Given the description of an element on the screen output the (x, y) to click on. 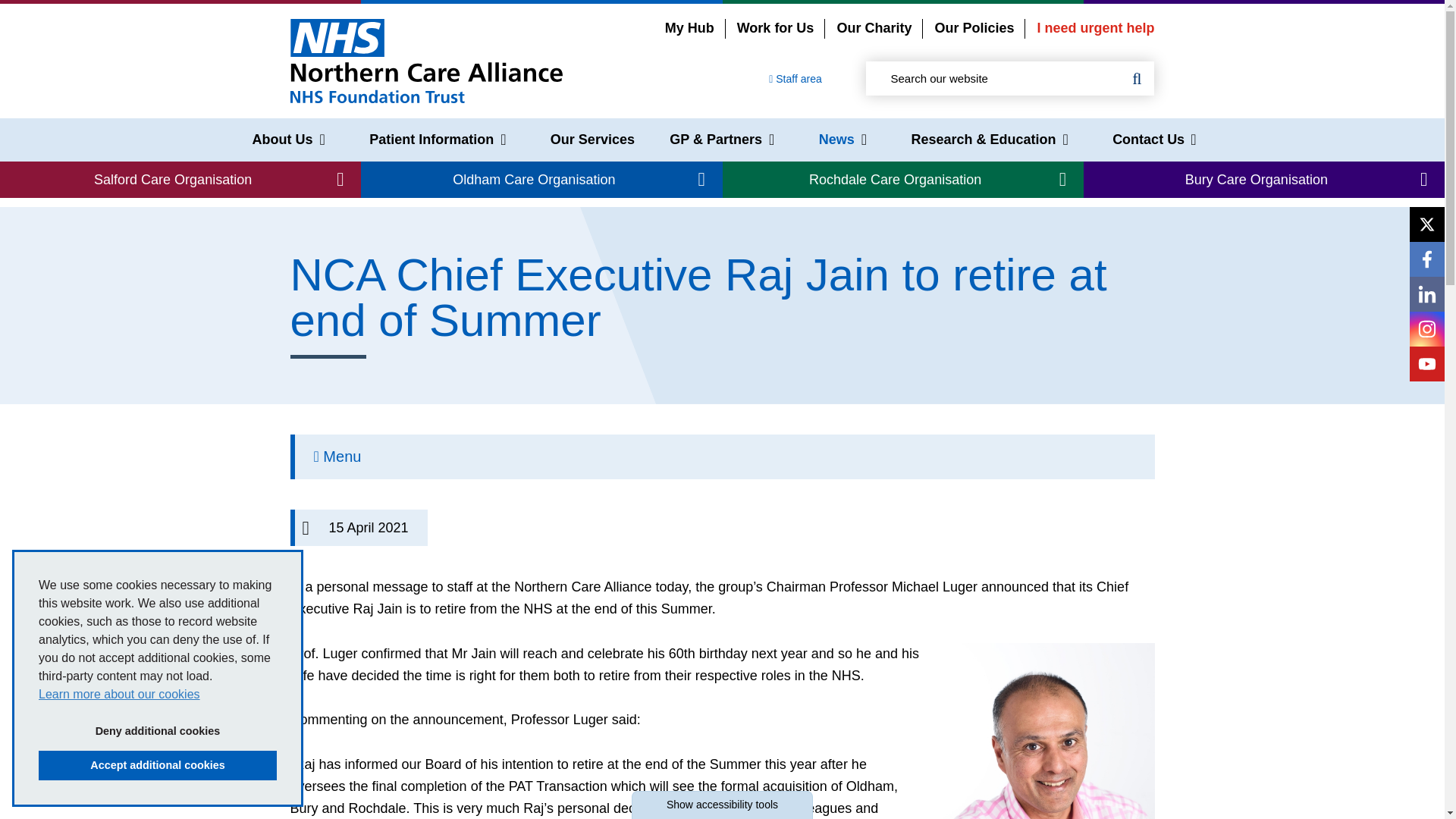
My Hub (689, 28)
Our Policies (973, 28)
Work for Us (774, 28)
Log in to your staff account (794, 78)
Our Charity (873, 28)
Deny additional cookies (157, 730)
When clicked will return to home page (425, 60)
I need urgent help (1095, 28)
Staff area (794, 78)
About Us (288, 139)
